Given the description of an element on the screen output the (x, y) to click on. 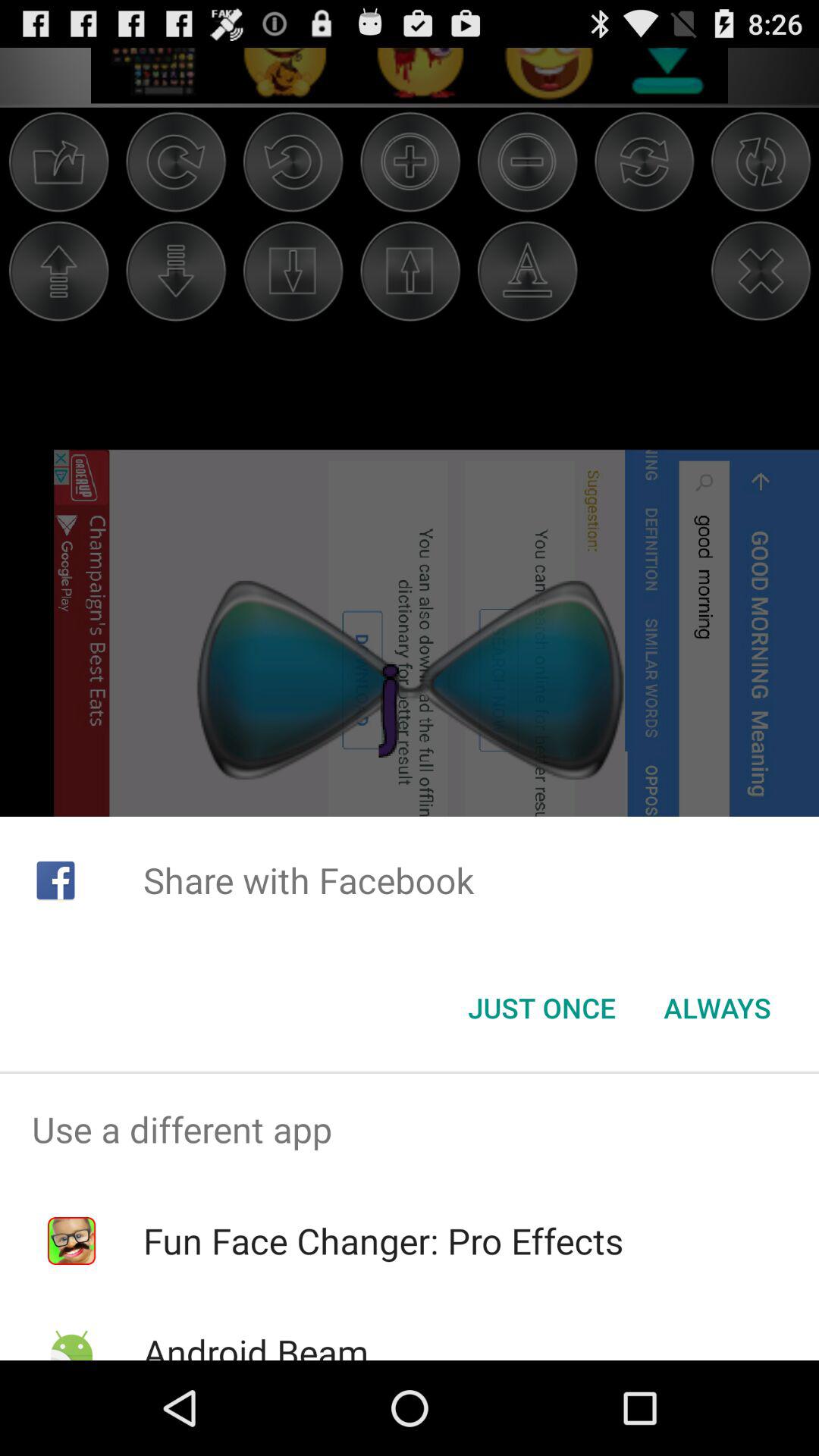
scroll until just once item (541, 1007)
